Given the description of an element on the screen output the (x, y) to click on. 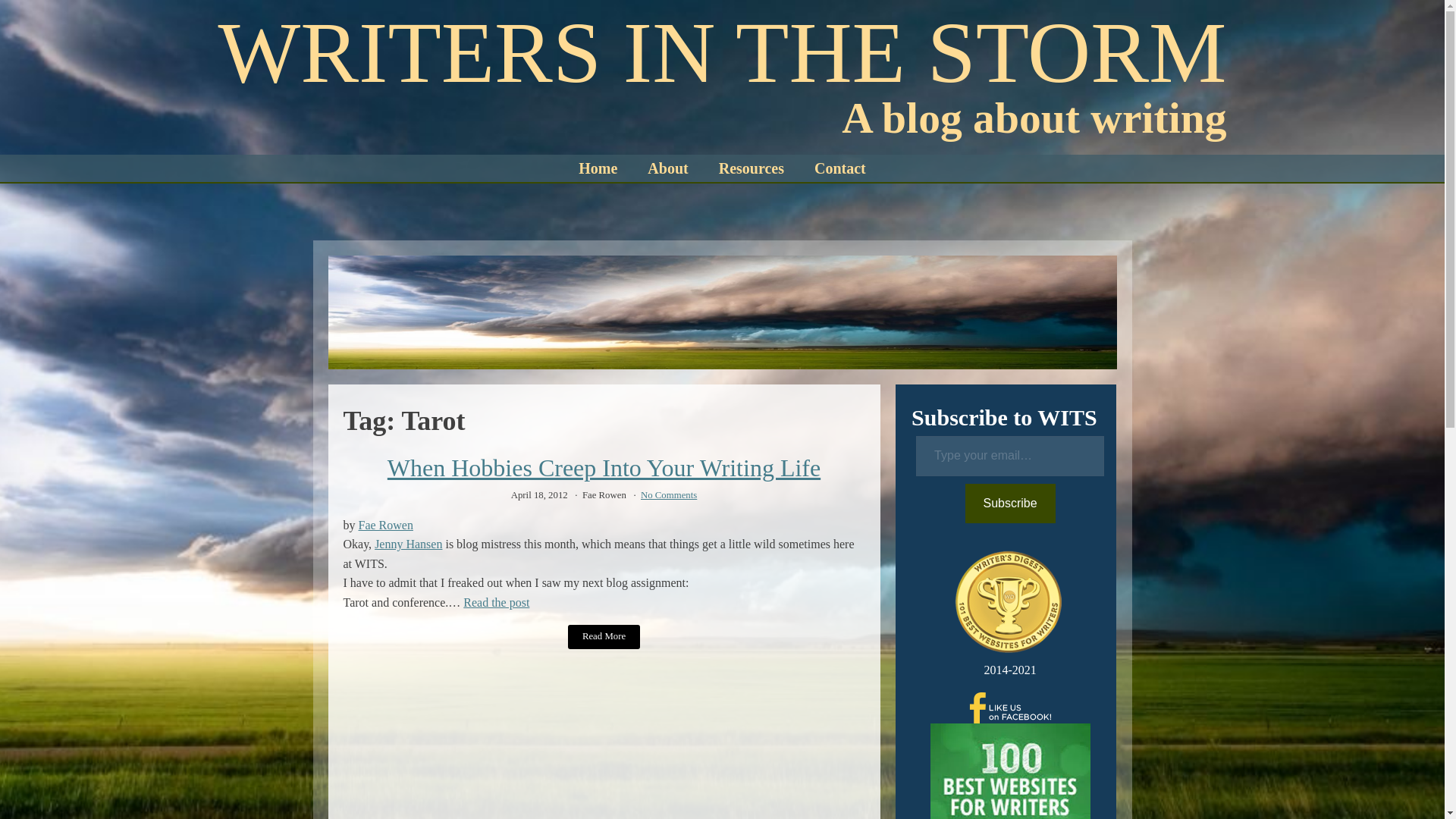
Read the post (496, 602)
Read More (603, 636)
Jenny Hansen (408, 543)
Please fill in this field. (1009, 455)
Resources (751, 167)
When Hobbies Creep Into Your Writing Life (604, 467)
No Comments (668, 494)
About (667, 167)
Home (597, 167)
